Given the description of an element on the screen output the (x, y) to click on. 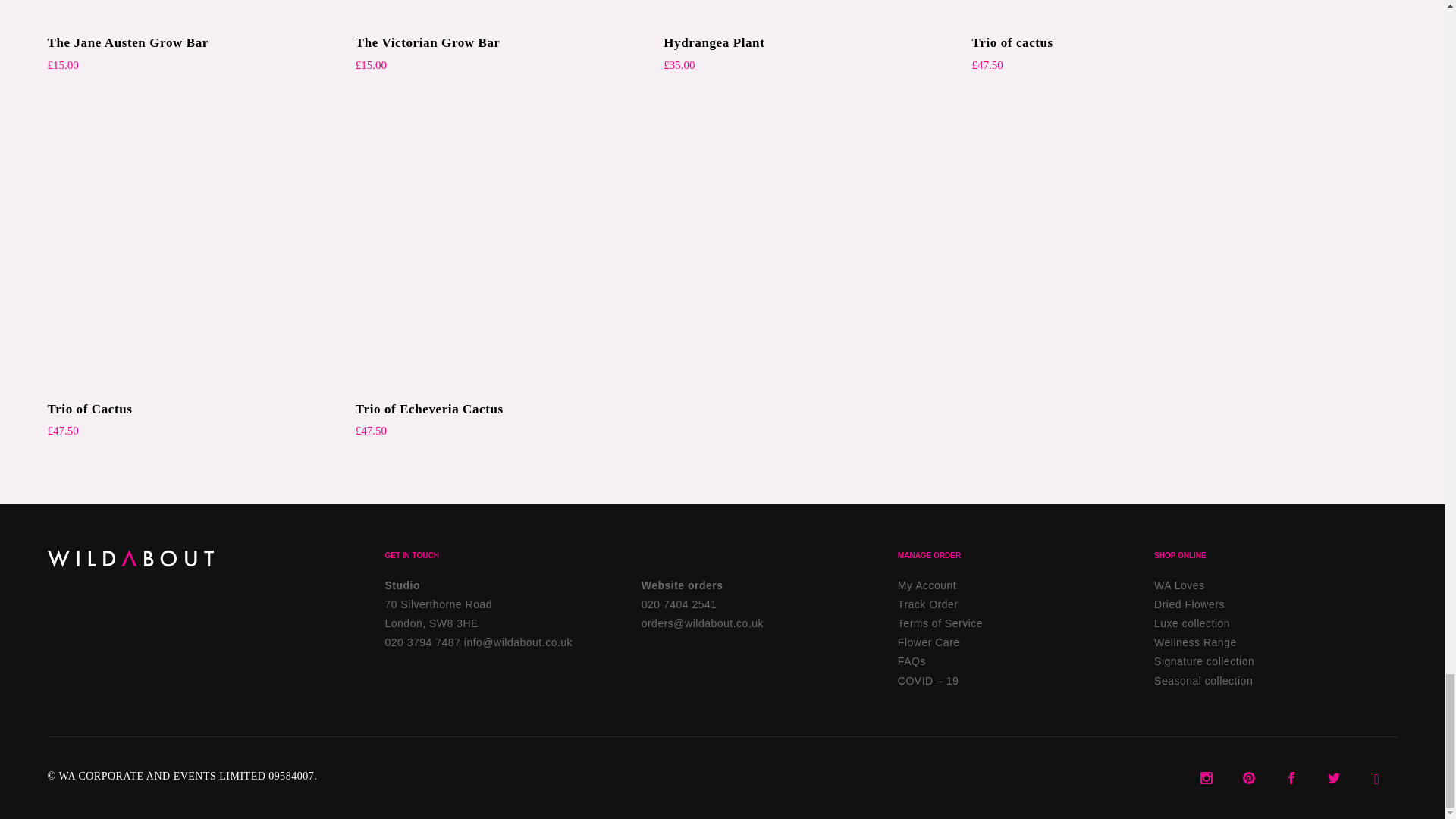
Wildabout Flowers on Facebook (1291, 776)
Wildabout Flowers on Pinterest (1249, 776)
Wildabout Flowers on Twitter (1333, 776)
Wildabout Flowers on LinkedIn (1375, 776)
Wildabout Flowers on Instagram (1206, 776)
